Given the description of an element on the screen output the (x, y) to click on. 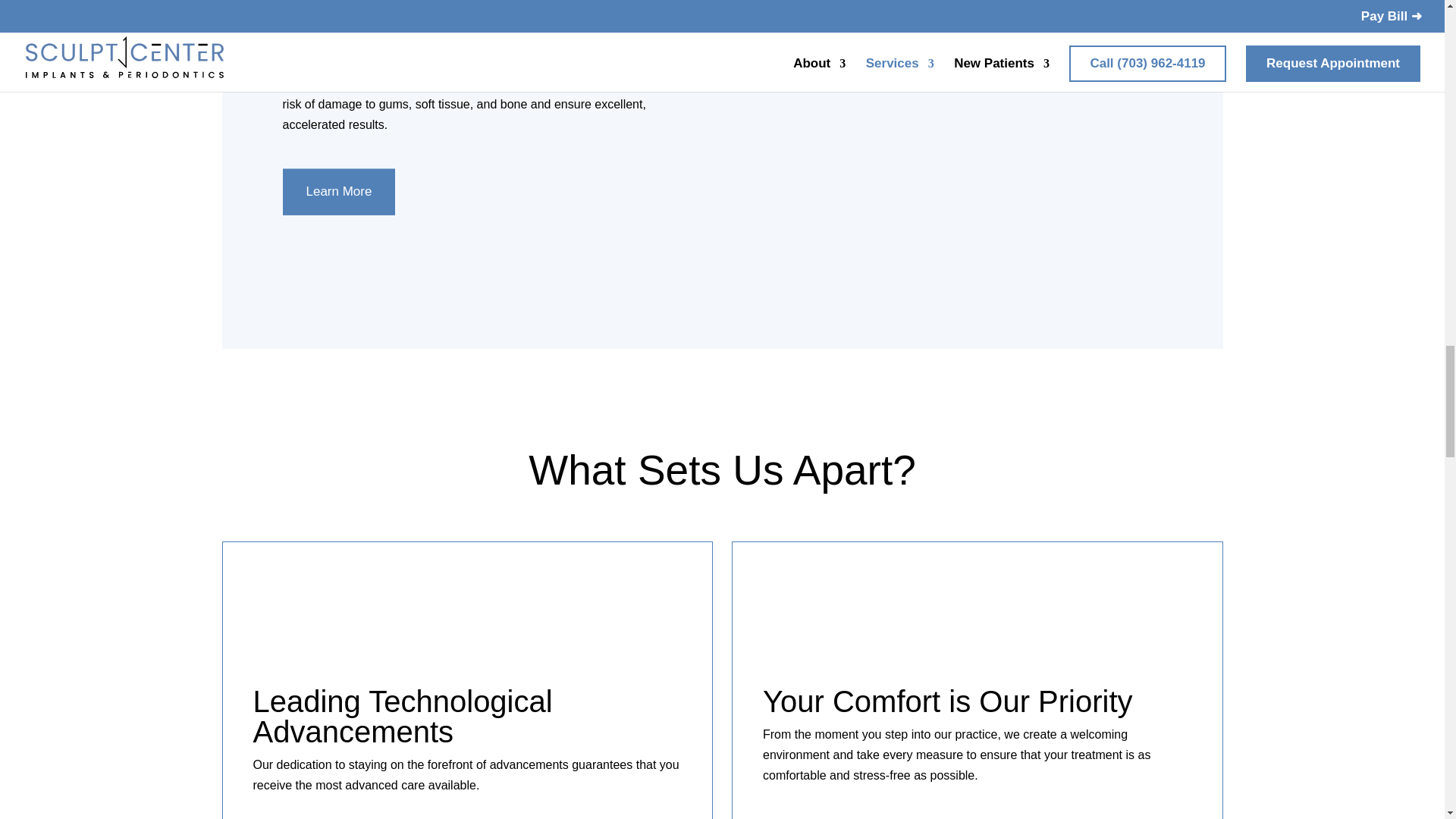
Learn More (338, 191)
